Given the description of an element on the screen output the (x, y) to click on. 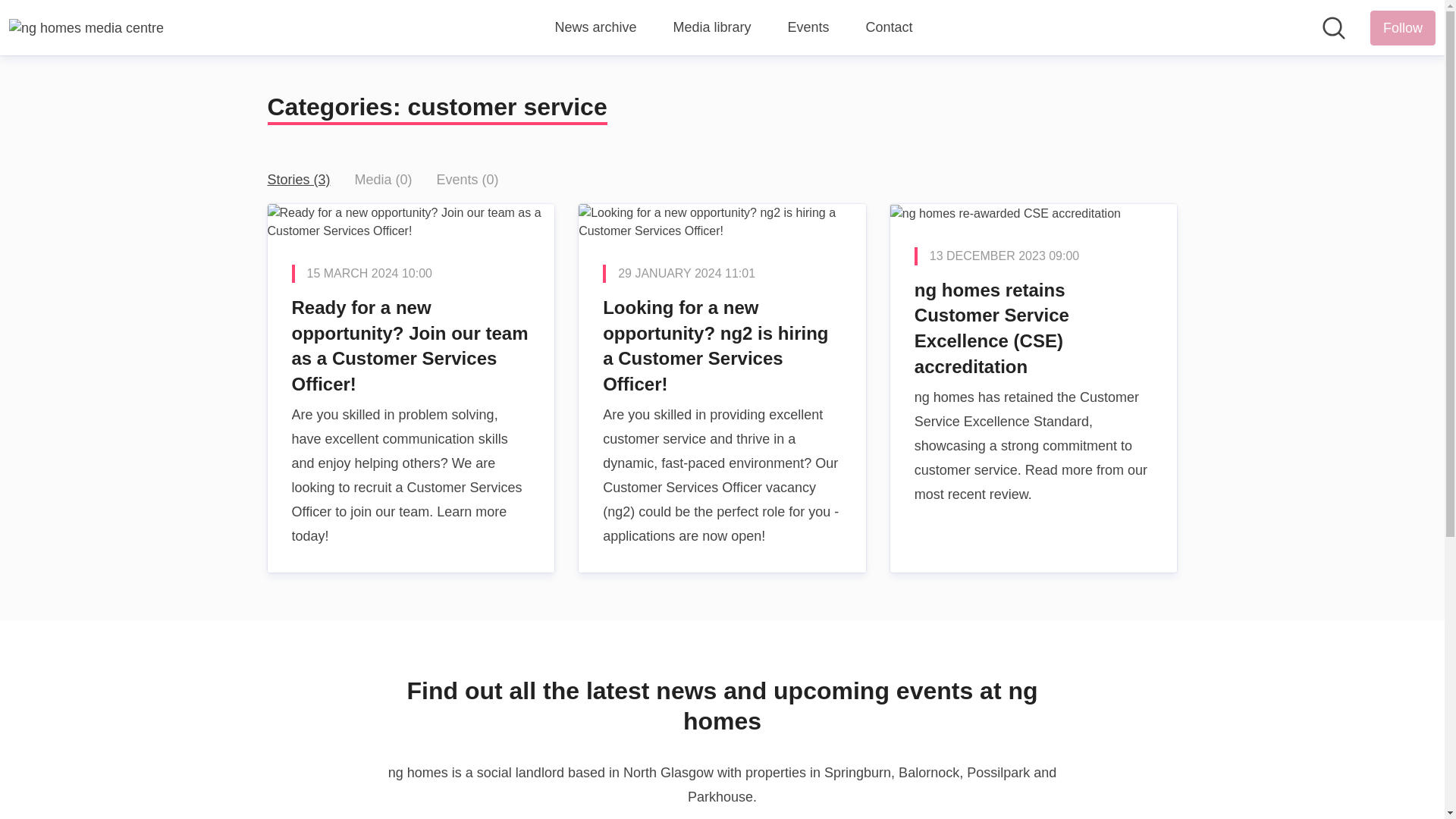
News archive (595, 27)
Media library (711, 27)
Follow (1402, 27)
Contact (889, 27)
Search in newsroom (1333, 27)
Events (808, 27)
